Given the description of an element on the screen output the (x, y) to click on. 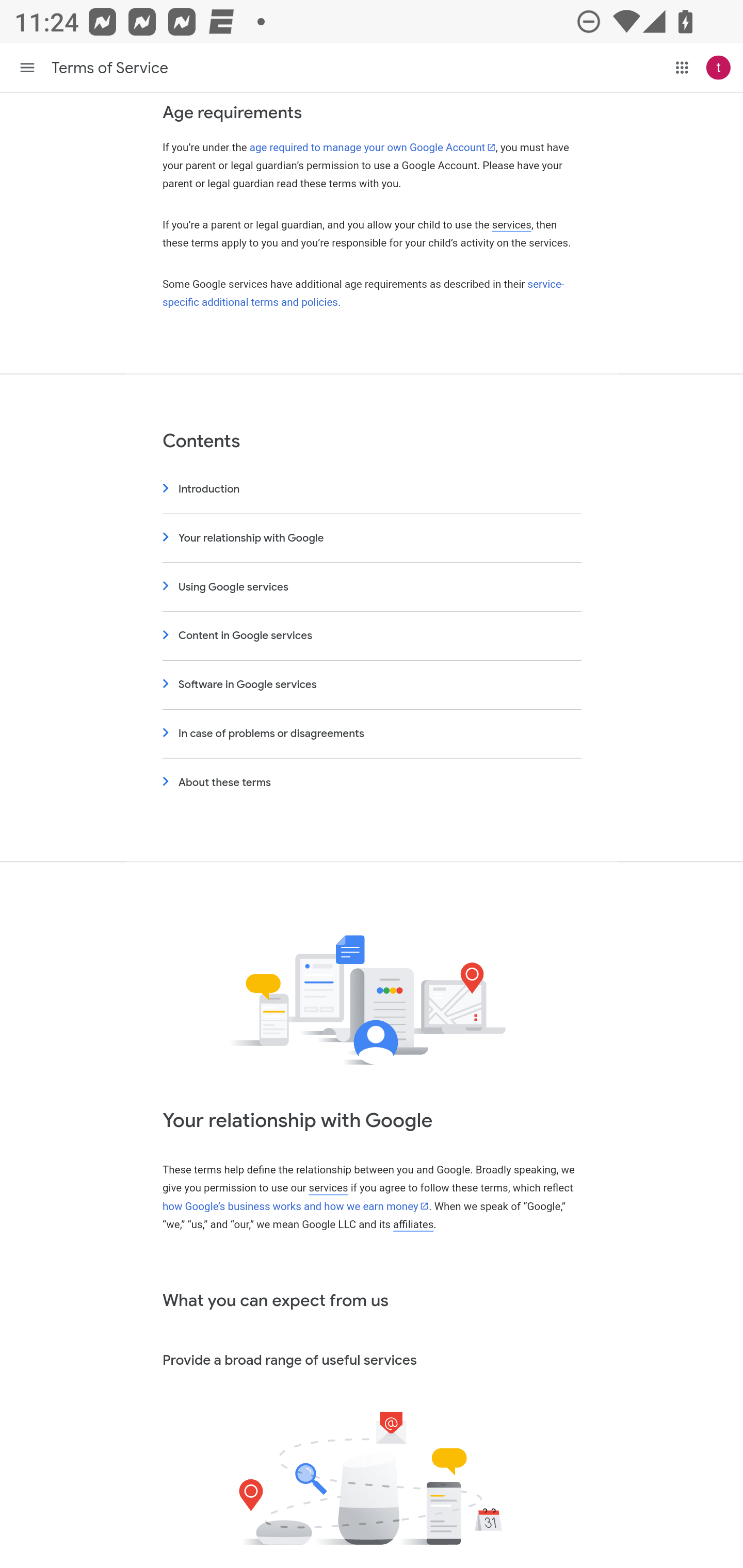
Main menu (27, 67)
Google apps (681, 67)
age required to manage your own Google Account (372, 148)
services (511, 224)
service-specific additional terms and policies (362, 292)
Introduction (371, 489)
Your relationship with Google (371, 538)
Using Google services (371, 586)
Content in Google services (371, 635)
Software in Google services (371, 685)
In case of problems or disagreements (371, 733)
About these terms (371, 782)
services (328, 1189)
how Google’s business works and how we earn money (295, 1206)
affiliates (412, 1225)
